Given the description of an element on the screen output the (x, y) to click on. 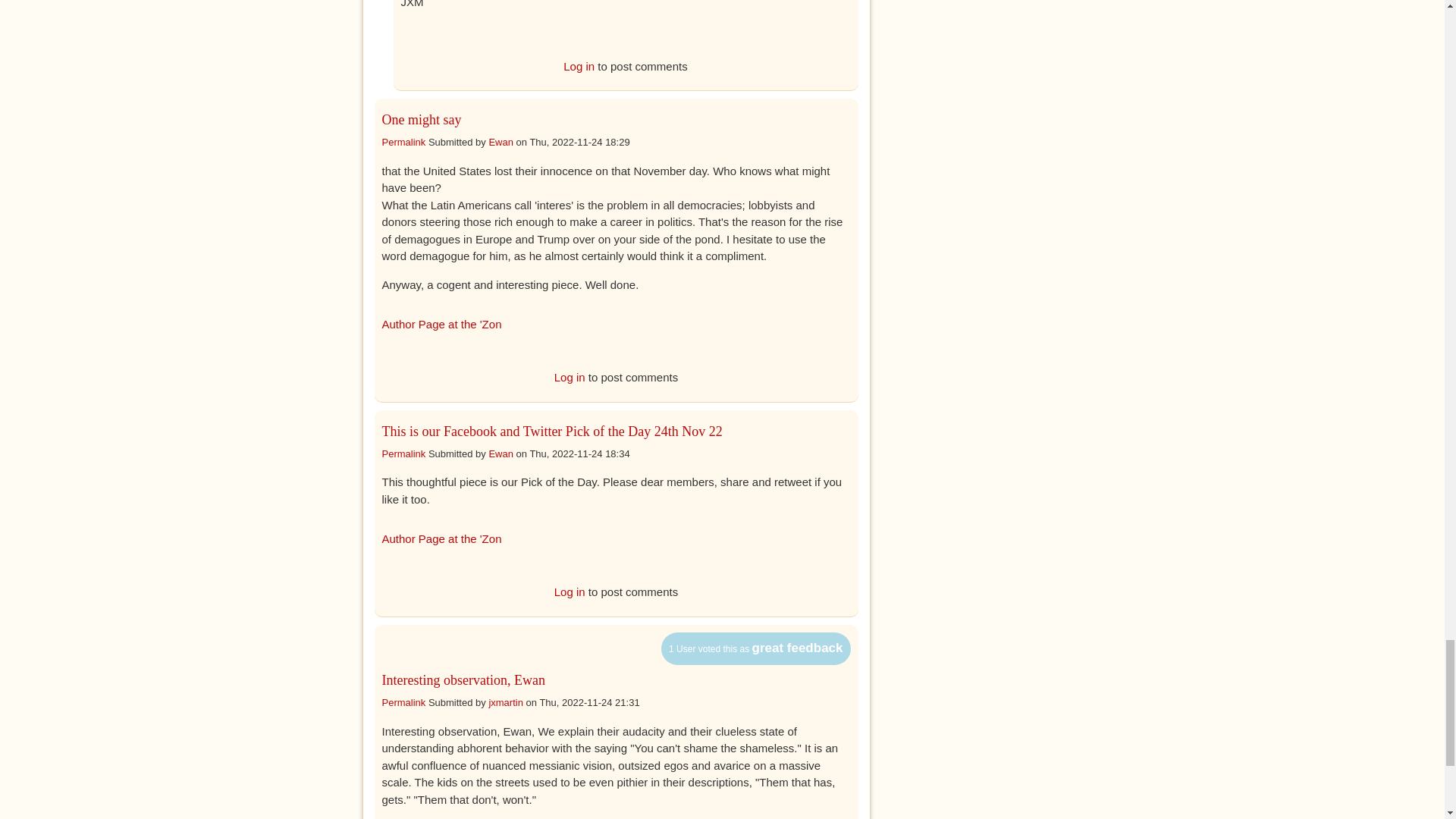
Author Page at the 'Zon (441, 323)
Ewan (500, 142)
Permalink (403, 142)
Log in (578, 65)
View user profile. (504, 702)
View user profile. (500, 452)
One might say (421, 119)
Log in (569, 377)
View user profile. (500, 142)
